Given the description of an element on the screen output the (x, y) to click on. 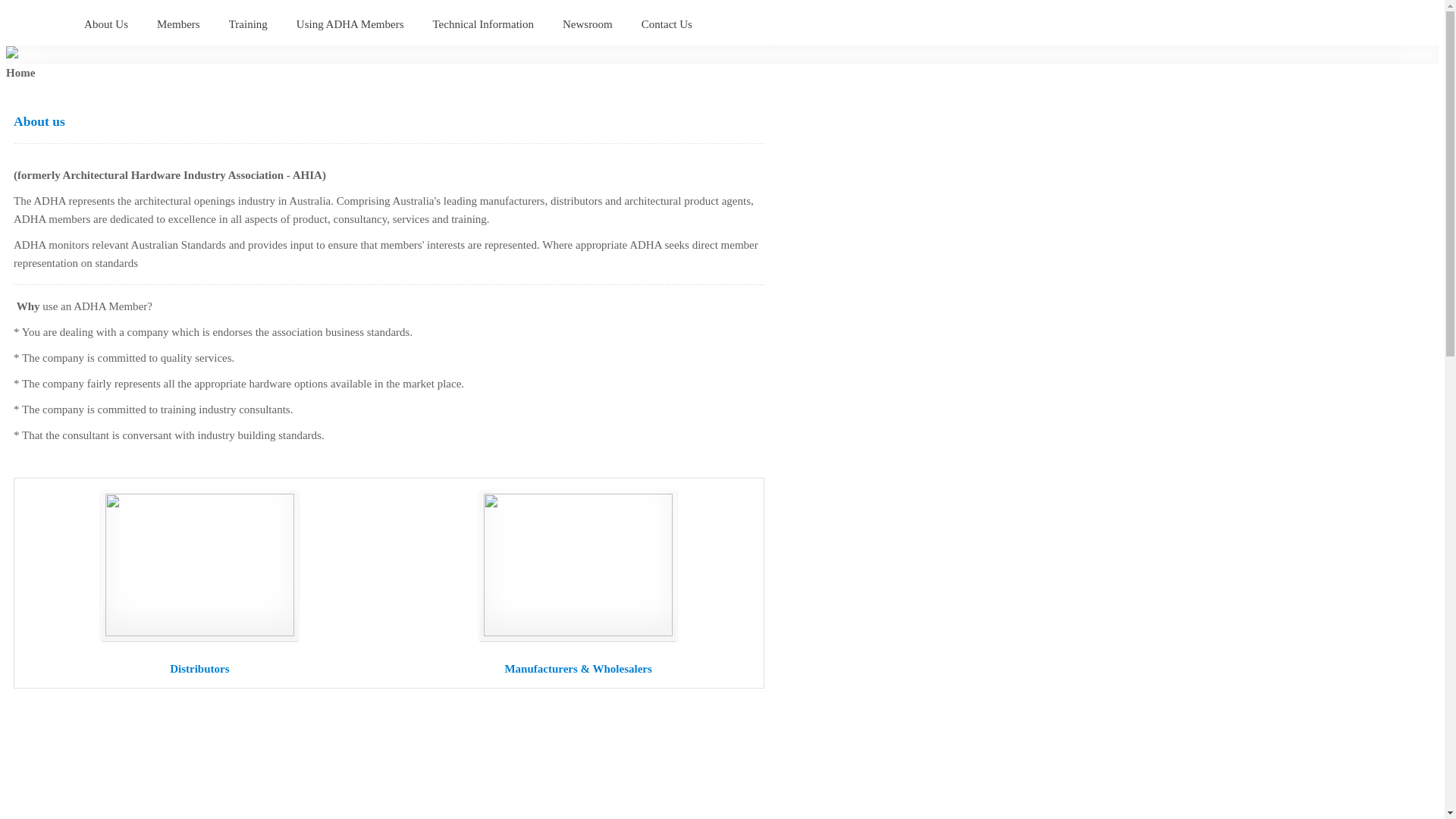
Training Element type: text (248, 24)
Newsroom Element type: text (588, 24)
About Us Element type: text (106, 24)
Technical Information Element type: text (483, 24)
Manufacturers & Wholesalers Element type: text (577, 668)
Distributors Element type: text (199, 668)
Contact Us Element type: text (667, 24)
Using ADHA Members Element type: text (350, 24)
Members Element type: text (179, 24)
